Given the description of an element on the screen output the (x, y) to click on. 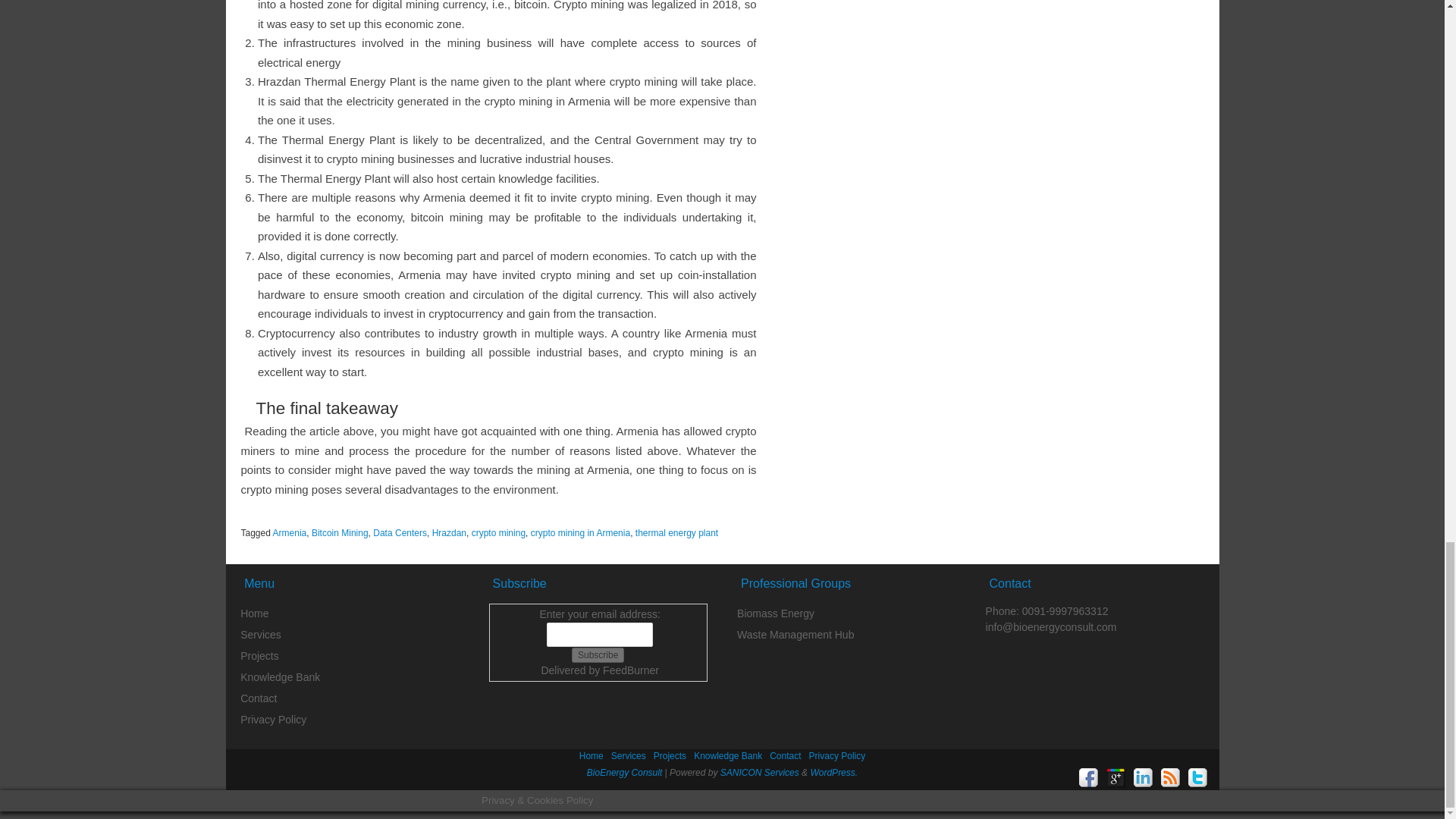
Subscribe (598, 654)
Armenia (290, 532)
crypto mining in Armenia (580, 532)
Hrazdan (448, 532)
Bitcoin Mining (339, 532)
thermal energy plant (675, 532)
Data Centers (399, 532)
crypto mining (498, 532)
